Given the description of an element on the screen output the (x, y) to click on. 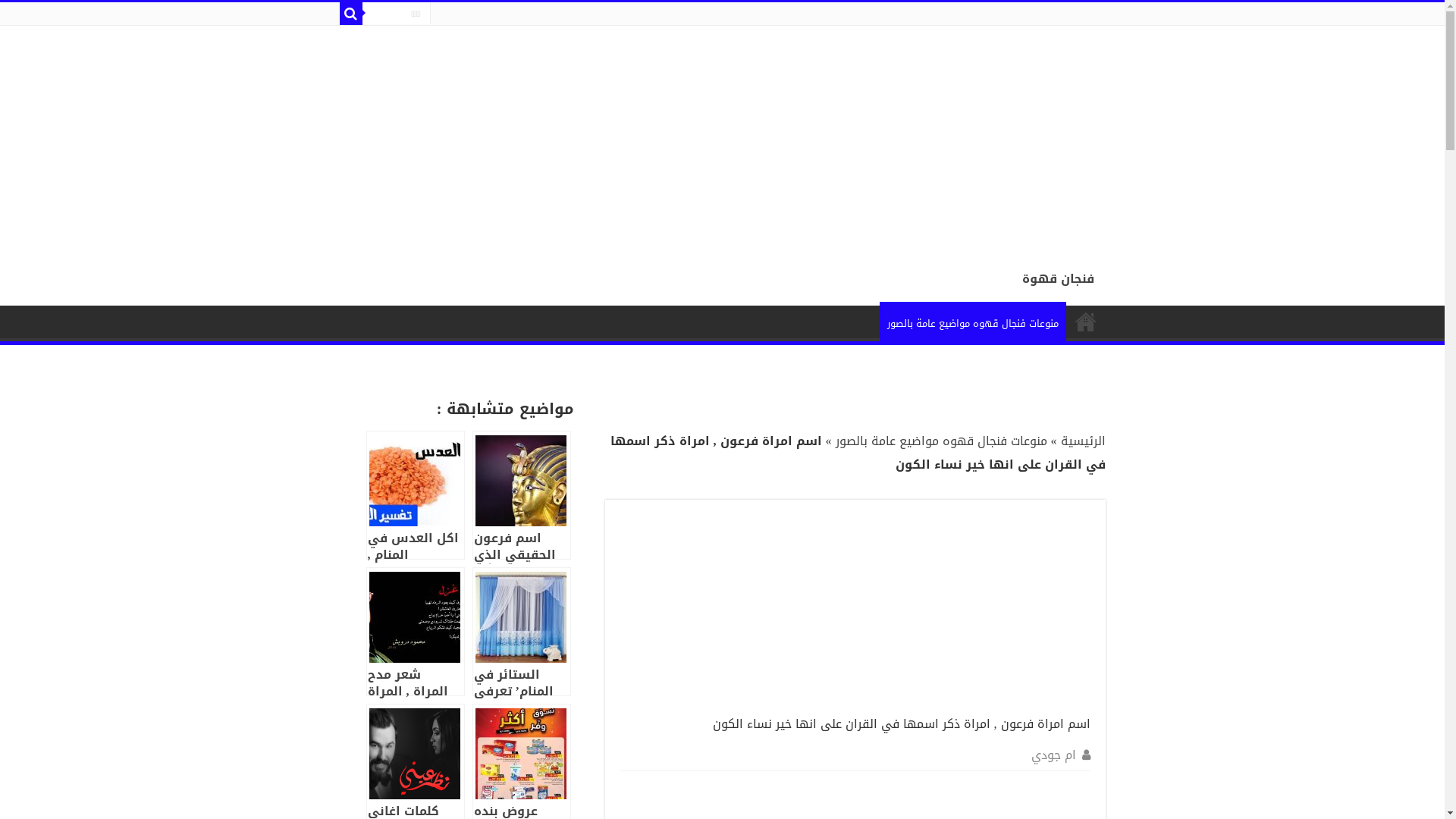
Advertisement Element type: hover (976, 609)
Advertisement Element type: hover (989, 131)
